Given the description of an element on the screen output the (x, y) to click on. 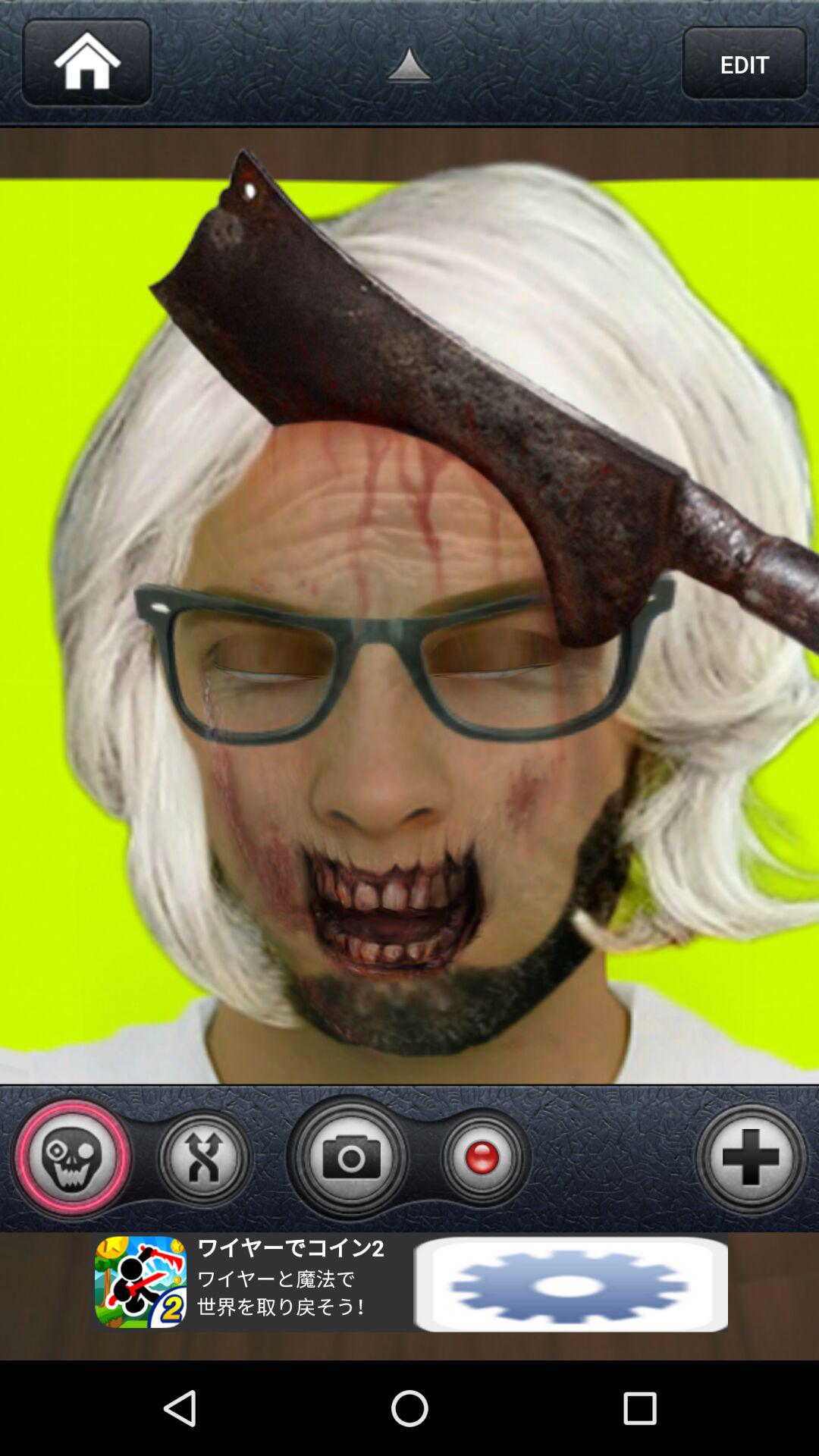
paid add on (751, 1158)
